Given the description of an element on the screen output the (x, y) to click on. 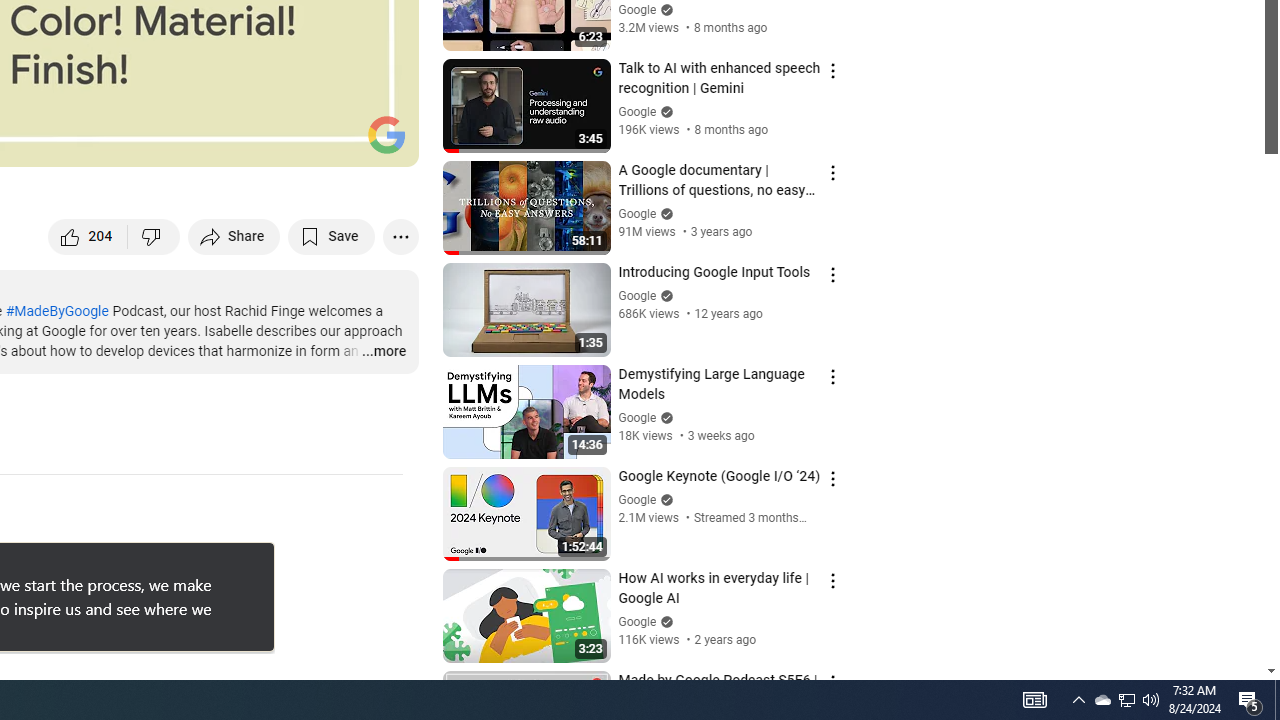
More actions (399, 236)
Settings (237, 142)
Autoplay is on (141, 142)
like this video along with 204 other people (88, 236)
Channel watermark (386, 134)
Share (234, 236)
Action menu (832, 682)
#MadeByGoogle (56, 311)
